Given the description of an element on the screen output the (x, y) to click on. 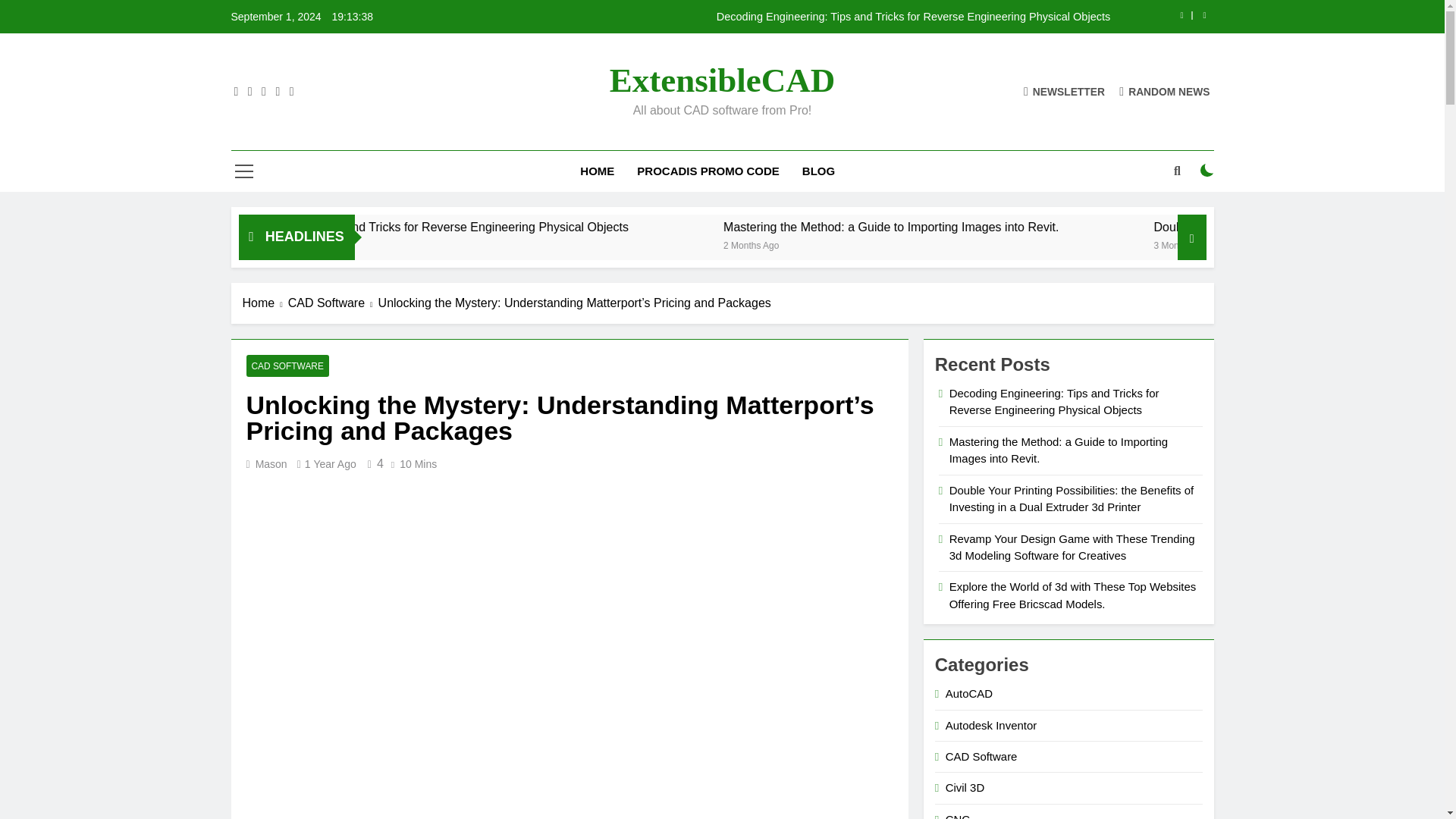
NEWSLETTER (1064, 91)
ExtensibleCAD (722, 80)
2 Months Ago (948, 244)
RANDOM NEWS (1164, 91)
2 Weeks Ago (421, 244)
PROCADIS PROMO CODE (708, 170)
